Given the description of an element on the screen output the (x, y) to click on. 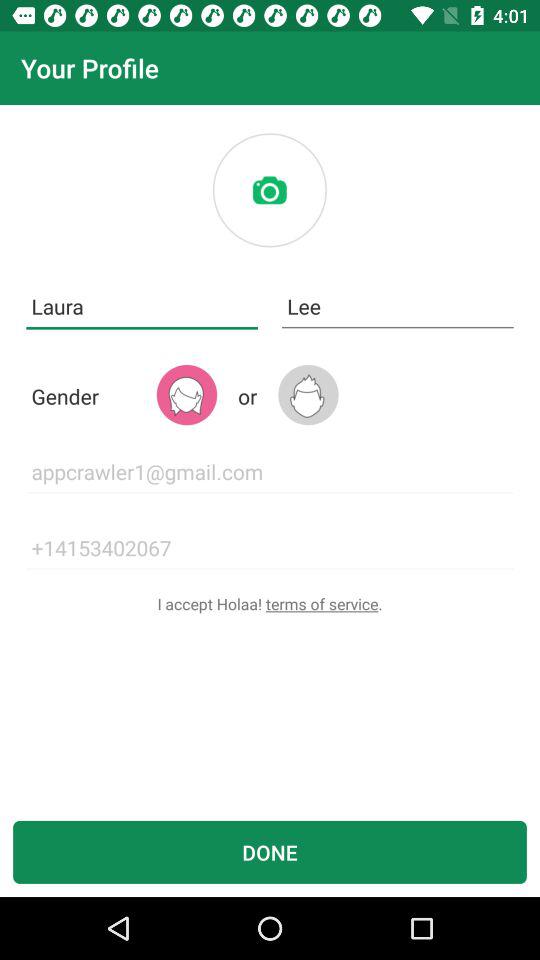
take a photo (269, 190)
